Given the description of an element on the screen output the (x, y) to click on. 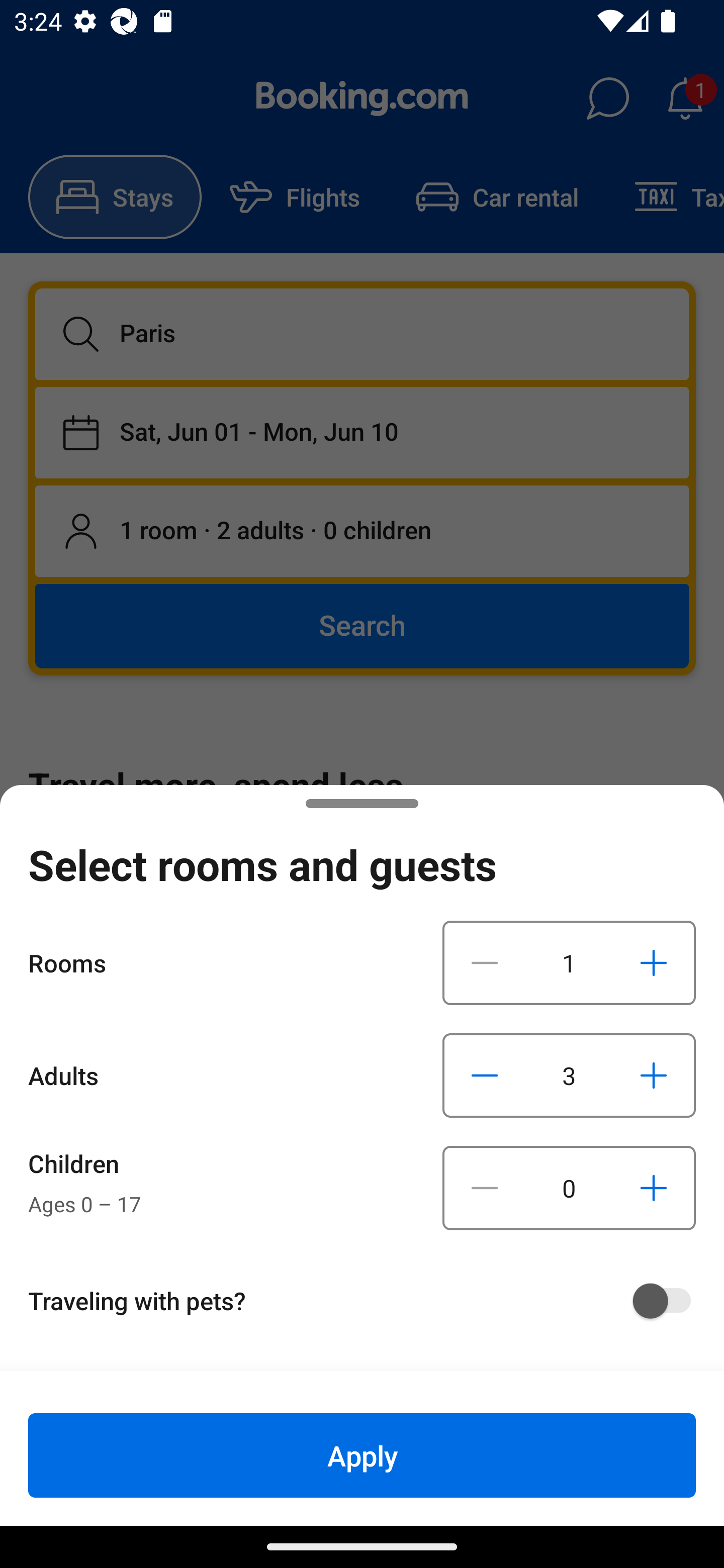
Decrease (484, 962)
Increase (653, 962)
Decrease (484, 1075)
Increase (653, 1075)
Decrease (484, 1188)
Increase (653, 1188)
Traveling with pets? (369, 1300)
Apply (361, 1454)
